Given the description of an element on the screen output the (x, y) to click on. 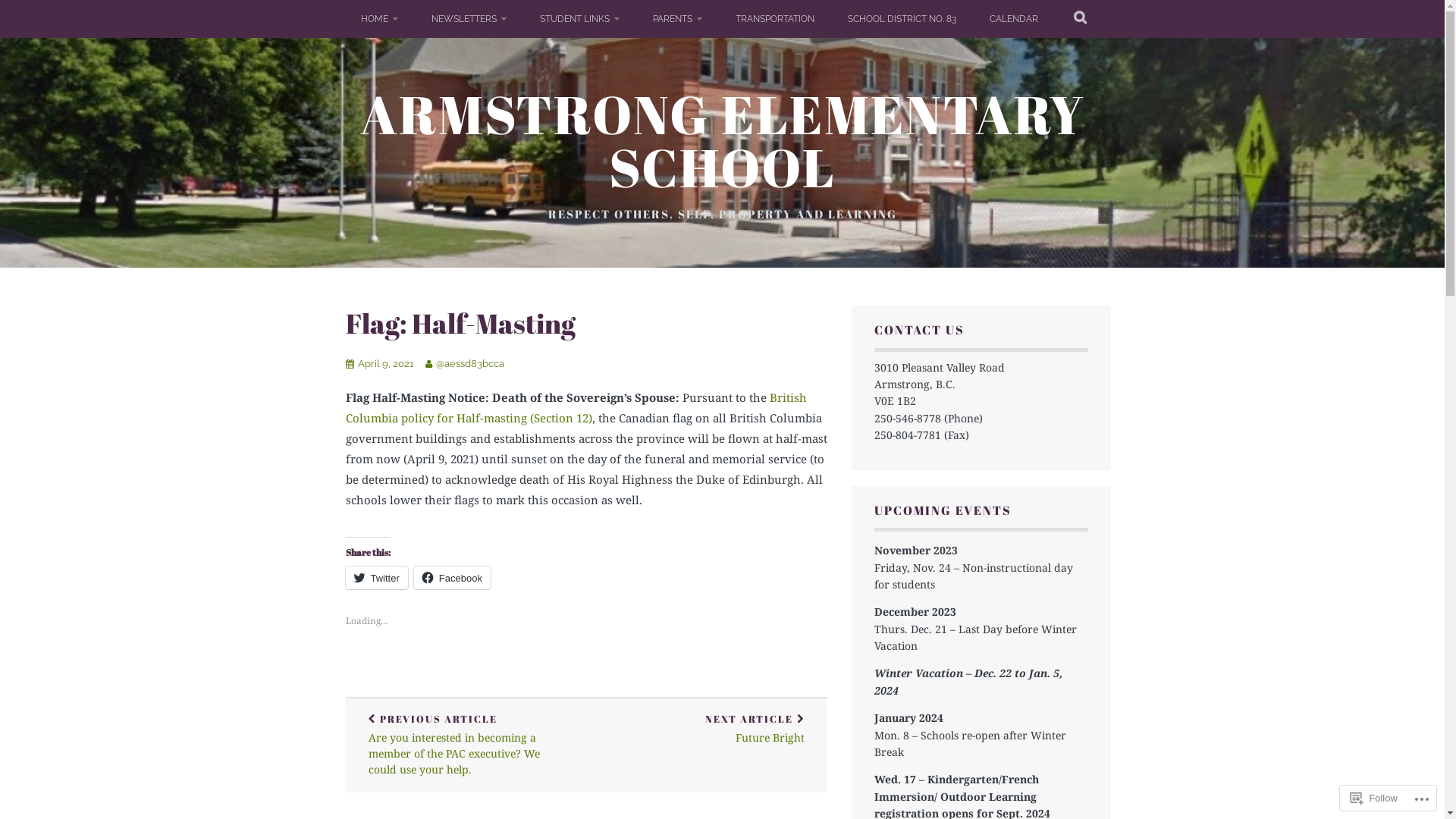
British Columbia policy for Half-masting (Section 12) Element type: text (575, 407)
Facebook Element type: text (452, 577)
April 9, 2021 Element type: text (385, 363)
CALENDAR Element type: text (1012, 18)
TRANSPORTATION Element type: text (774, 18)
NEWSLETTERS Element type: text (467, 18)
@aessd83bcca Element type: text (469, 363)
SCHOOL DISTRICT NO. 83 Element type: text (901, 18)
STUDENT LINKS Element type: text (579, 18)
Follow Element type: text (1373, 797)
ARMSTRONG ELEMENTARY SCHOOL Element type: text (721, 140)
PARENTS Element type: text (676, 18)
Twitter Element type: text (376, 577)
Flag: Half-Masting Element type: text (460, 322)
NEXT ARTICLE
Future Bright Element type: text (706, 729)
HOME Element type: text (379, 18)
